Given the description of an element on the screen output the (x, y) to click on. 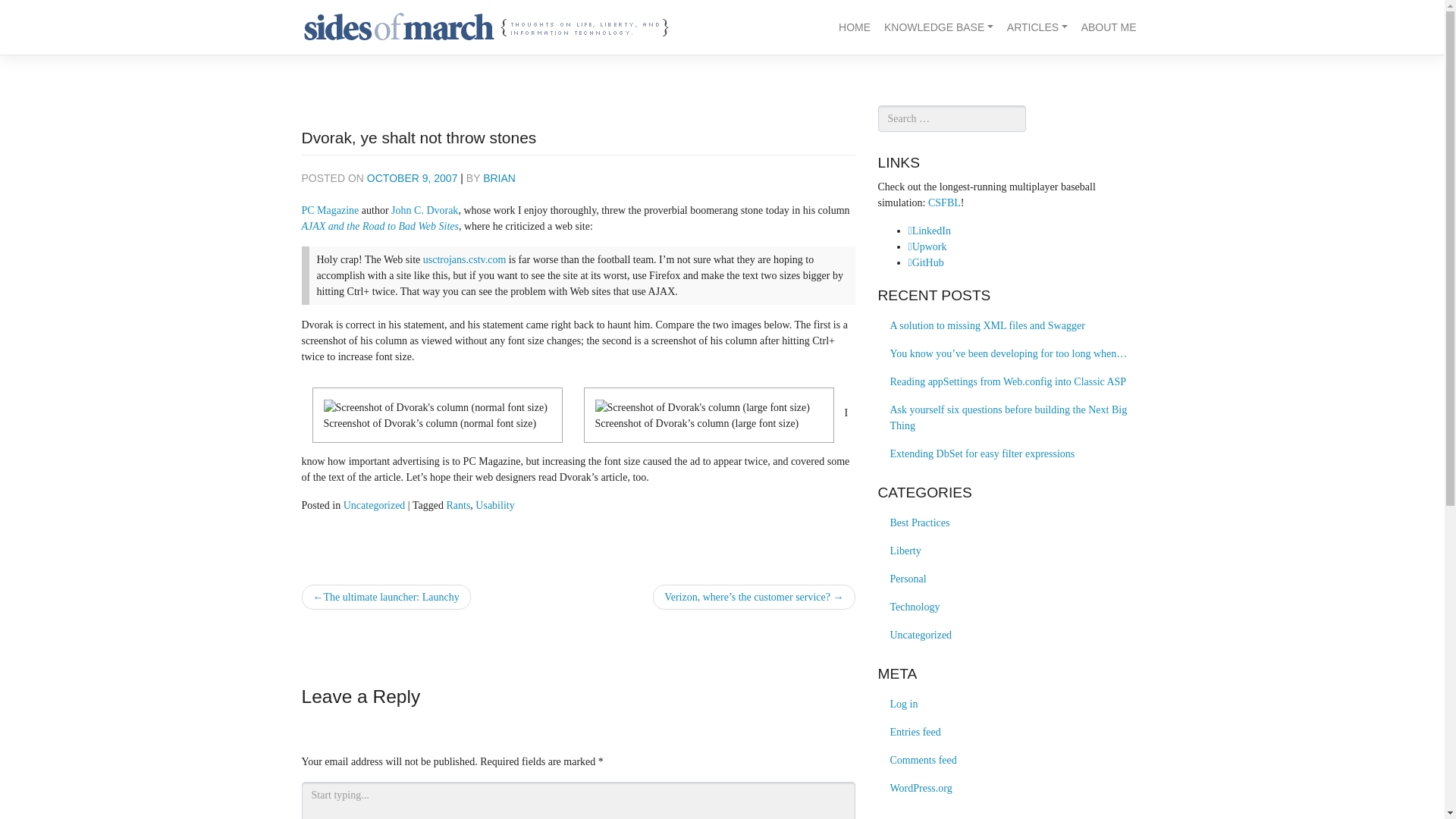
ARTICLES (1037, 27)
About Me (1108, 27)
Programming, systems engineering, and all things IT (914, 606)
Extending DbSet for easy filter expressions (1009, 453)
KNOWLEDGE BASE (938, 27)
Search (29, 12)
usctrojans.cstv.com (464, 259)
Technology (914, 606)
Personal (908, 578)
ABOUT ME (1108, 27)
OCTOBER 9, 2007 (412, 177)
The ultimate launcher: Launchy (385, 596)
Best Practices (919, 522)
Liberty (905, 551)
A solution to missing XML files and Swagger (1009, 325)
